Given the description of an element on the screen output the (x, y) to click on. 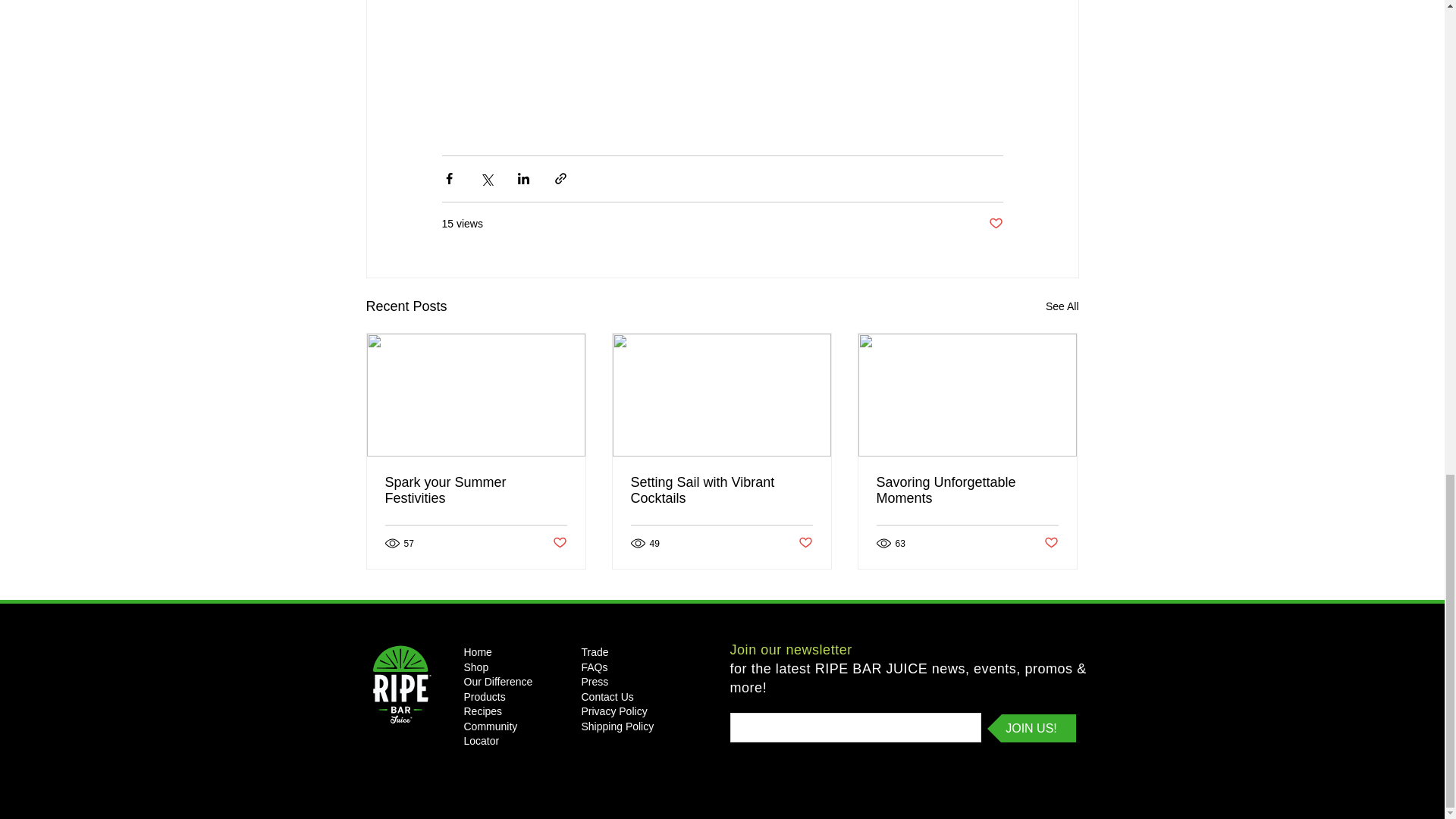
Locator (481, 740)
Shop (476, 666)
Our Difference (498, 681)
Post not marked as liked (804, 543)
Press (594, 681)
Spark your Summer Festivities (476, 490)
FAQs (593, 666)
Recipes (483, 711)
Setting Sail with Vibrant Cocktails (721, 490)
Privacy Policy (613, 711)
